Given the description of an element on the screen output the (x, y) to click on. 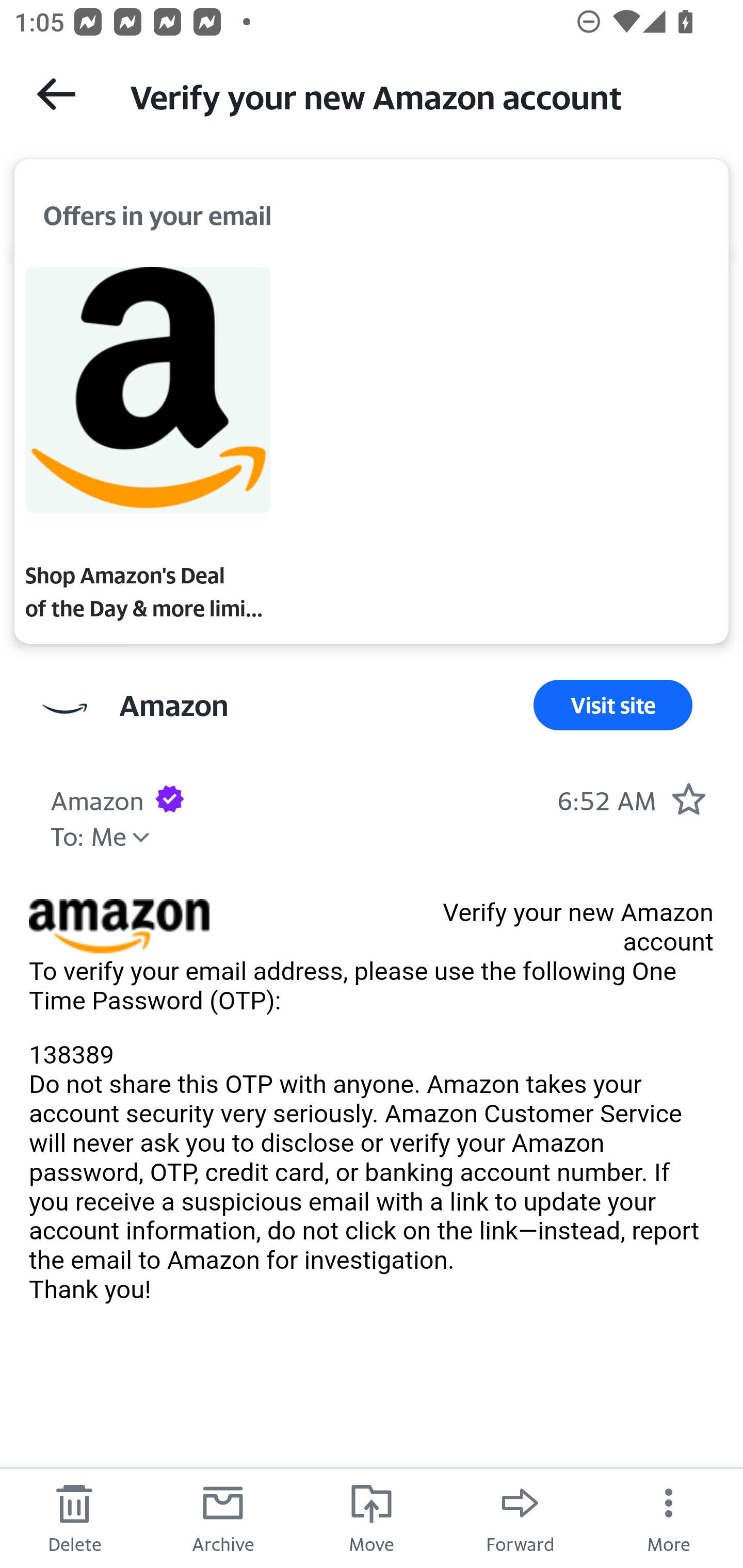
Back (55, 93)
Verify your new Amazon account (418, 94)
View all messages from sender (64, 708)
Visit site Visit Site Link (612, 705)
Amazon Sender Amazon (173, 705)
Amazon Sender Amazon (97, 798)
Mark as starred. (688, 798)
Delete (74, 1517)
Archive (222, 1517)
Move (371, 1517)
Forward (519, 1517)
More (668, 1517)
